Given the description of an element on the screen output the (x, y) to click on. 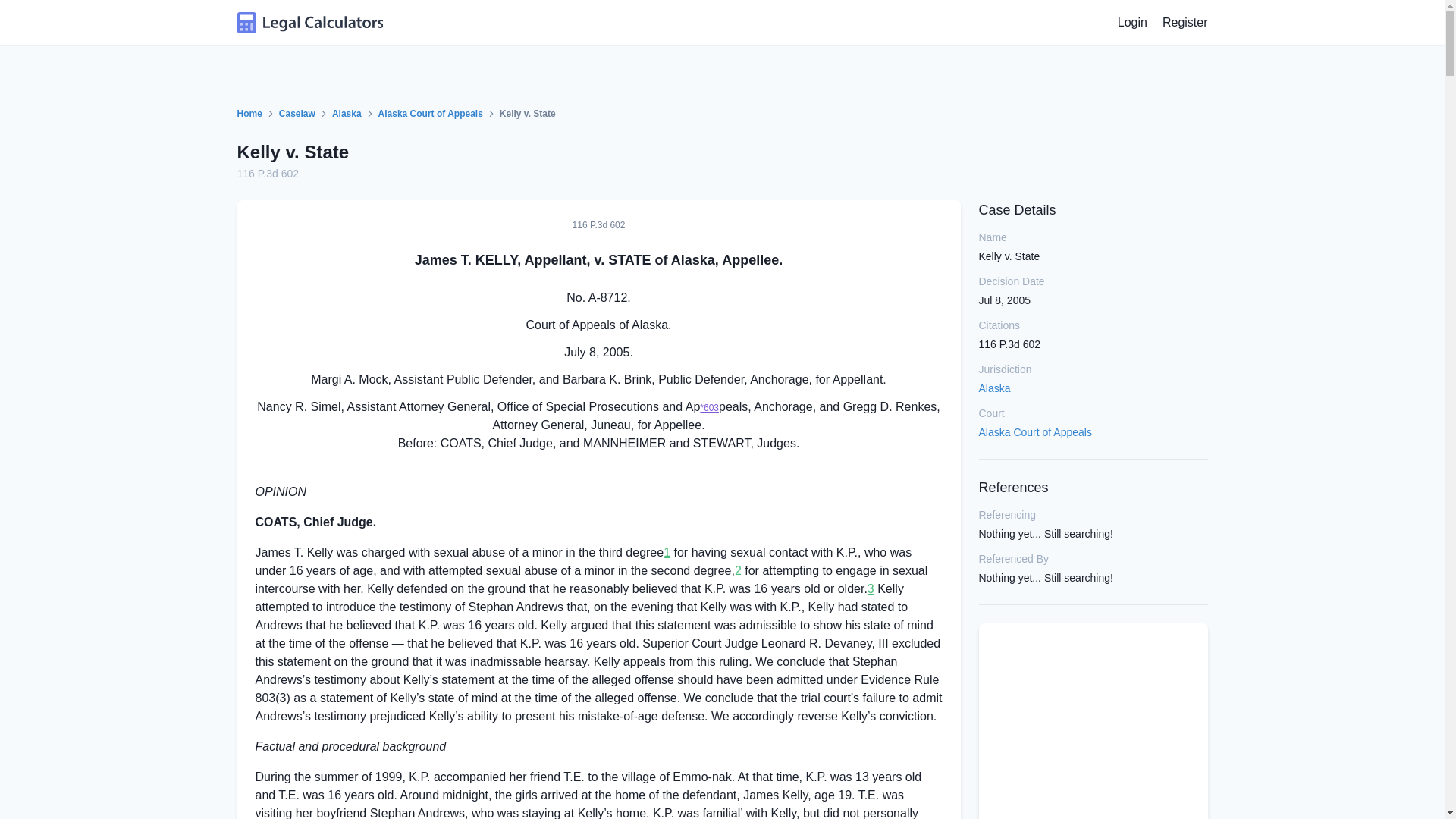
Alaska Court of Appeals (430, 113)
Login (1132, 22)
Home (248, 113)
Register (1184, 22)
Advertisement (1092, 730)
116 P.3d 602 (266, 173)
Alaska (346, 113)
Kelly v. State (292, 151)
Caselaw (297, 113)
